Given the description of an element on the screen output the (x, y) to click on. 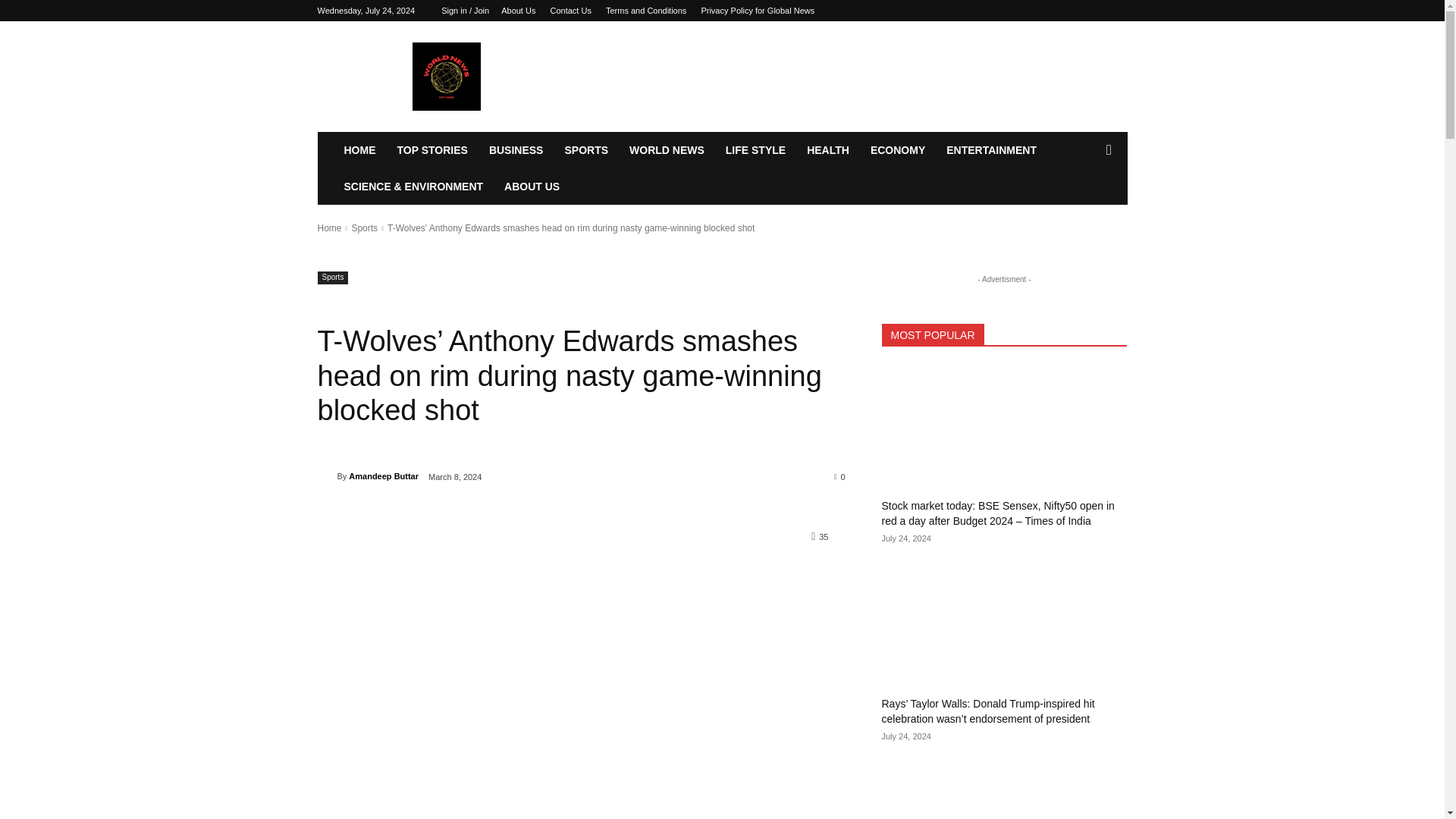
Contact Us (570, 10)
BUSINESS (516, 149)
HOME (360, 149)
TOP STORIES (433, 149)
Terms and Conditions (645, 10)
About Us (517, 10)
Privacy Policy for Global News (756, 10)
